Given the description of an element on the screen output the (x, y) to click on. 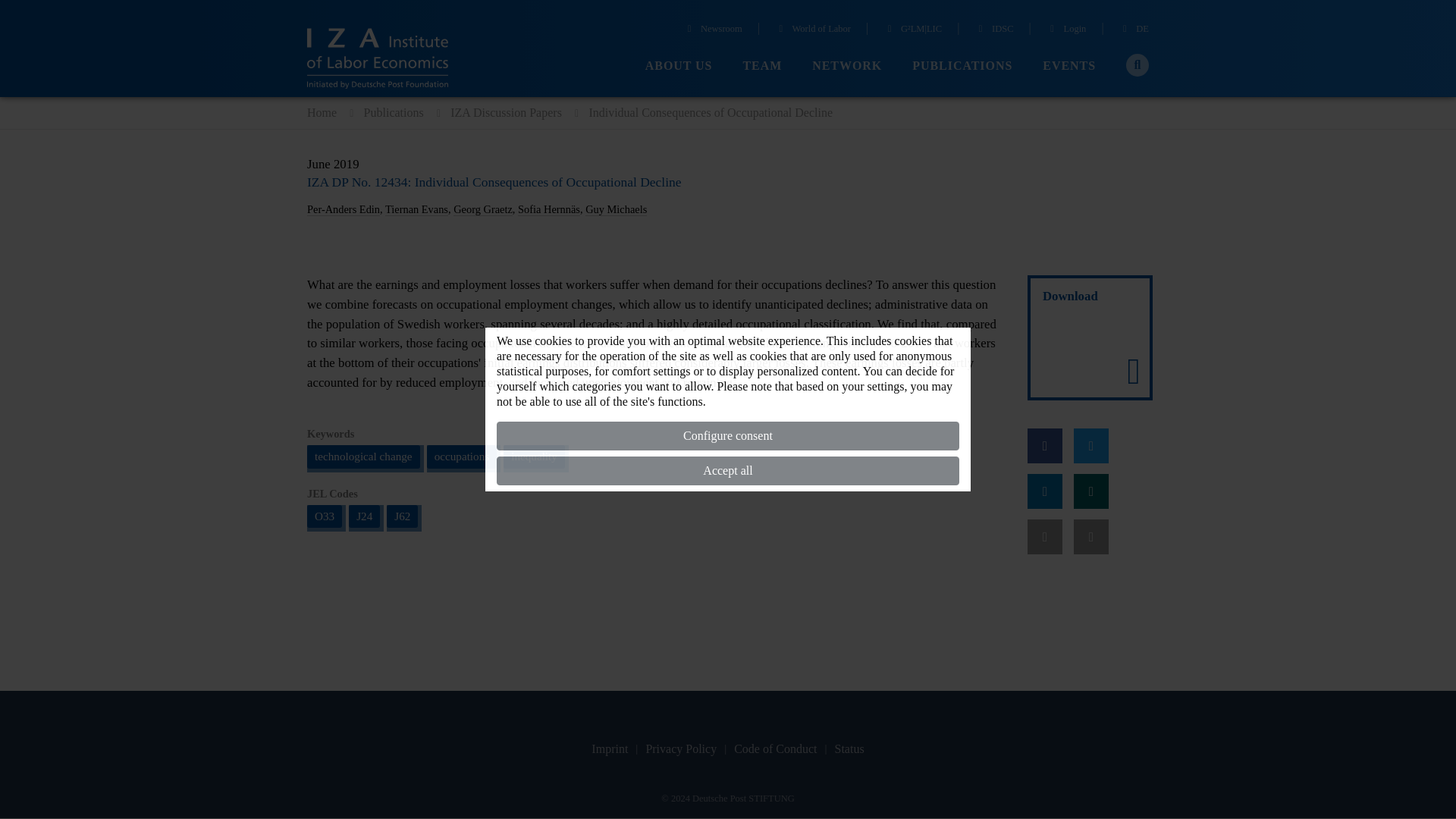
Newsroom (712, 30)
World of Labor (812, 30)
ABOUT US (679, 66)
TEAM (761, 66)
Login (1066, 30)
EVENTS (1069, 66)
PUBLICATIONS (961, 66)
NETWORK (847, 66)
IDSC (993, 30)
DE (1133, 30)
